Given the description of an element on the screen output the (x, y) to click on. 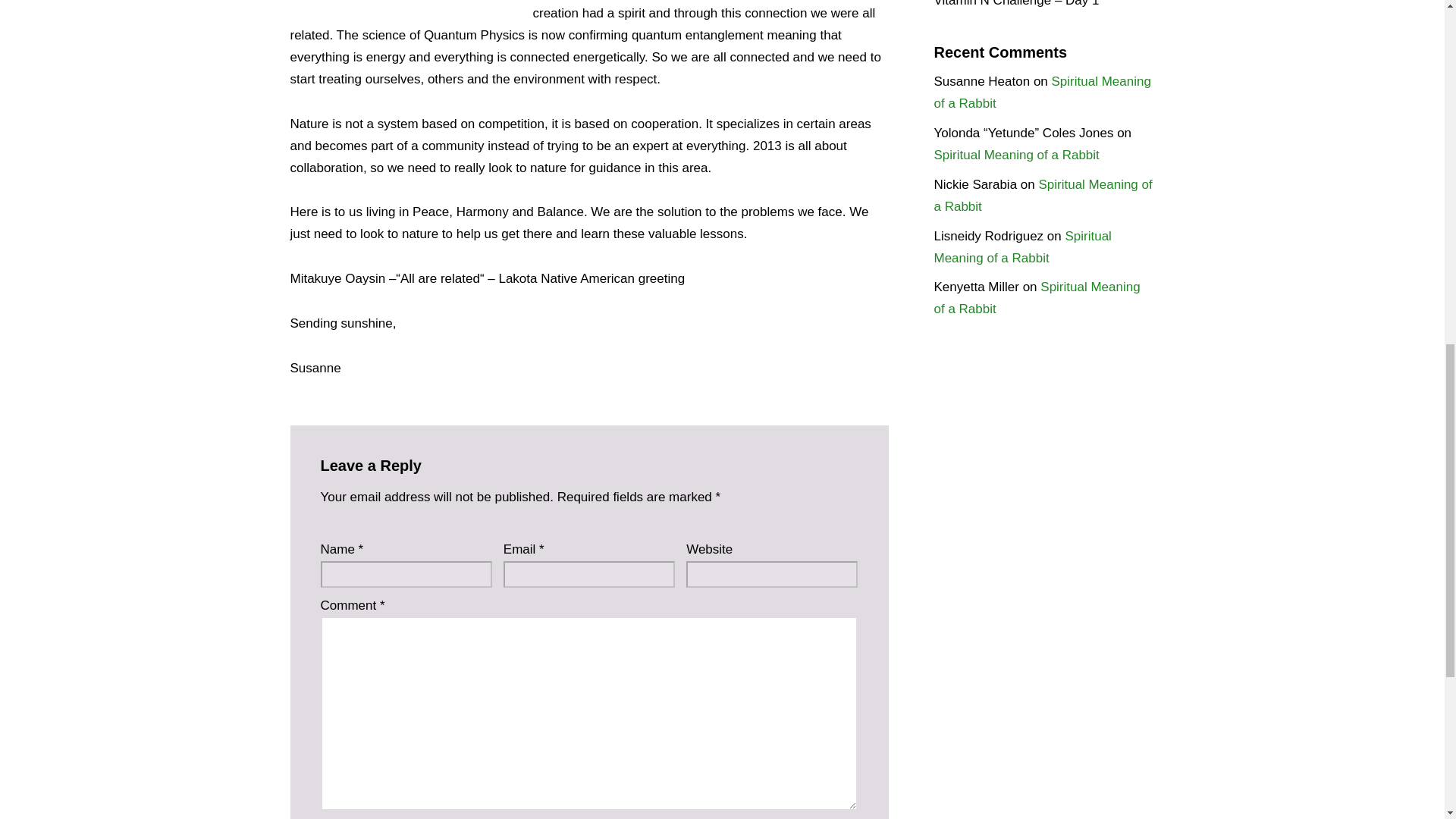
Spiritual Meaning of a Rabbit (1023, 247)
Spiritual Meaning of a Rabbit (1043, 195)
Spiritual Meaning of a Rabbit (1016, 155)
Spiritual Meaning of a Rabbit (1042, 92)
